Given the description of an element on the screen output the (x, y) to click on. 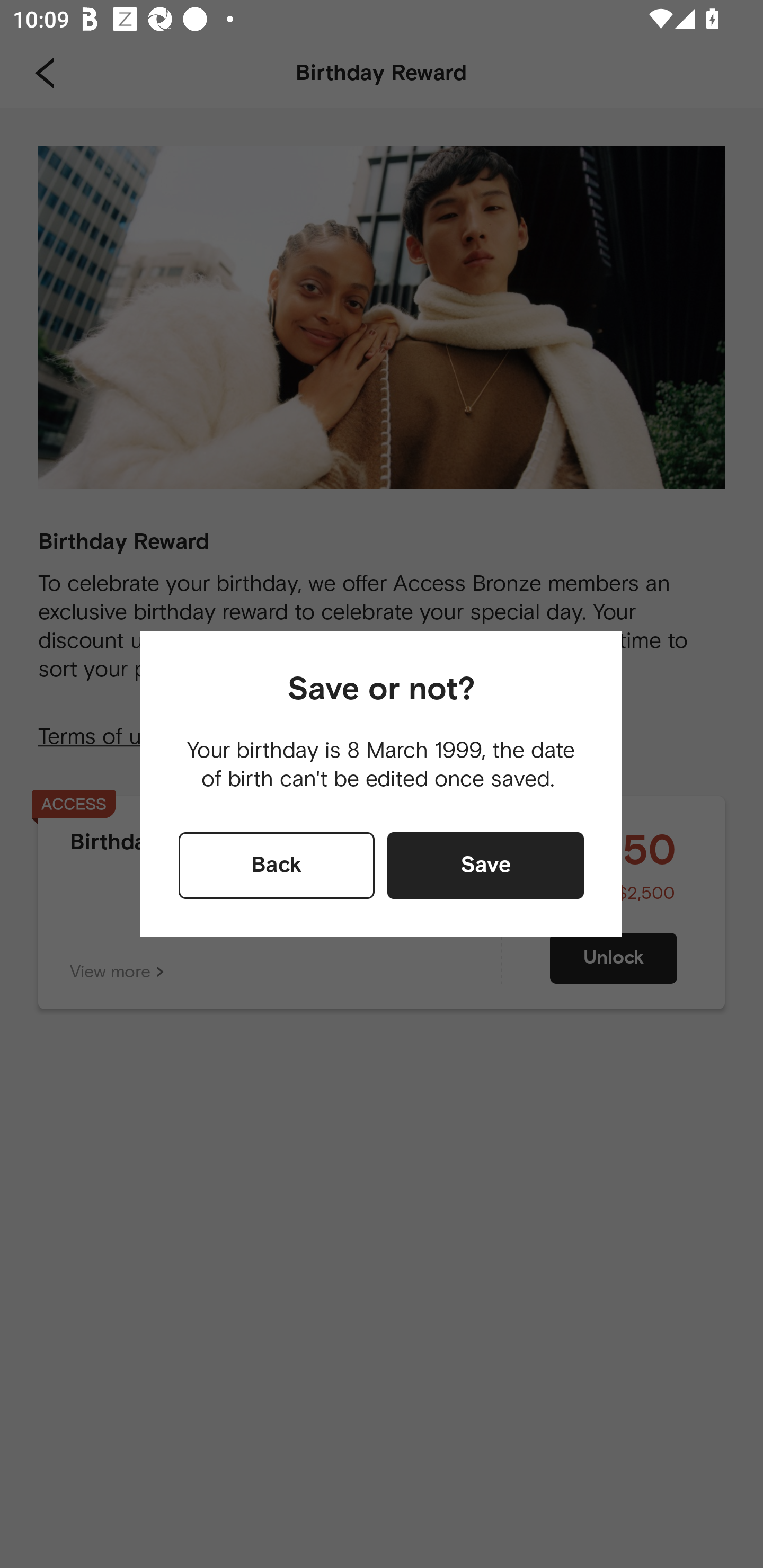
Back (276, 865)
Save (485, 865)
